Given the description of an element on the screen output the (x, y) to click on. 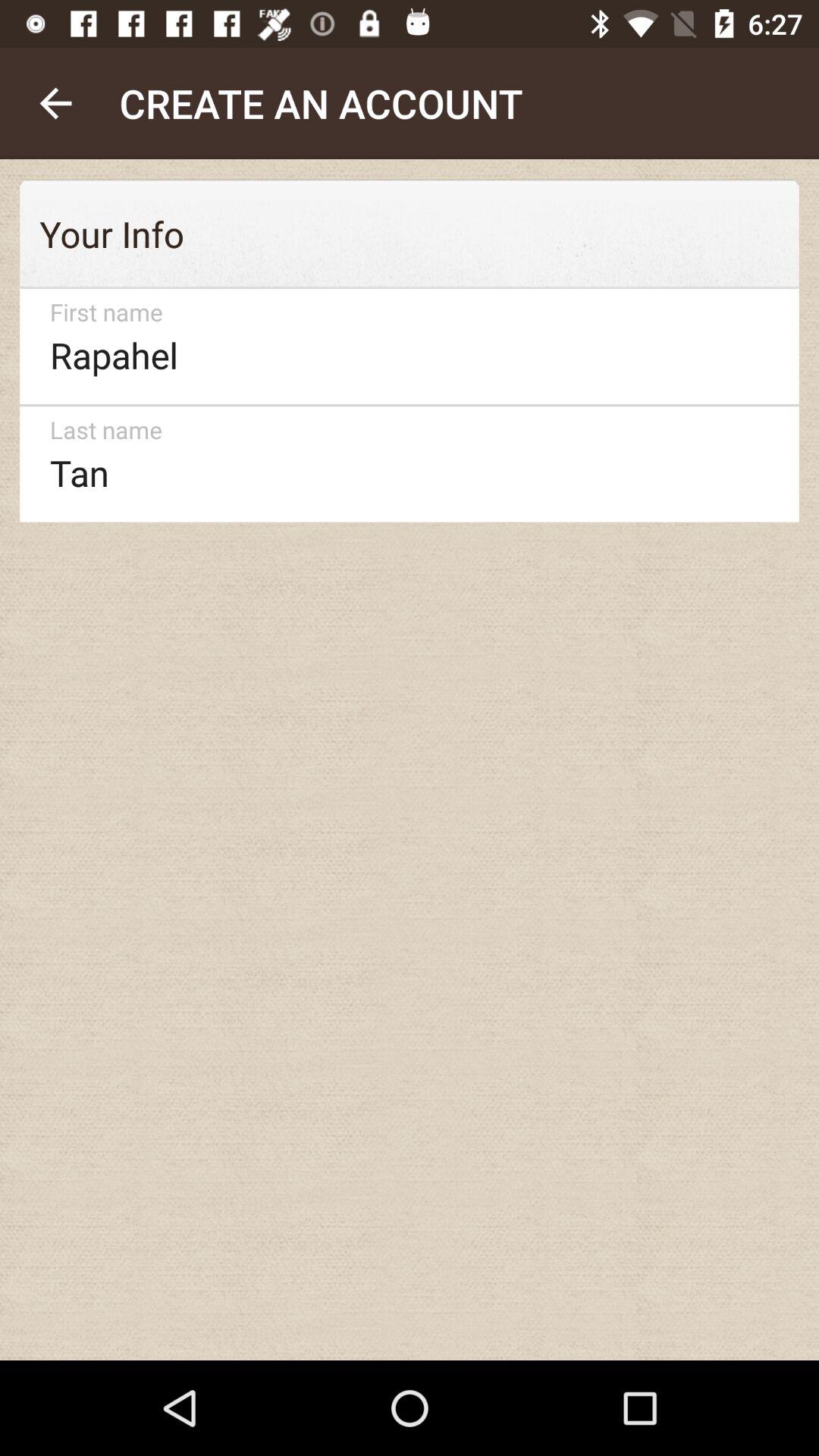
select tan item (402, 464)
